Given the description of an element on the screen output the (x, y) to click on. 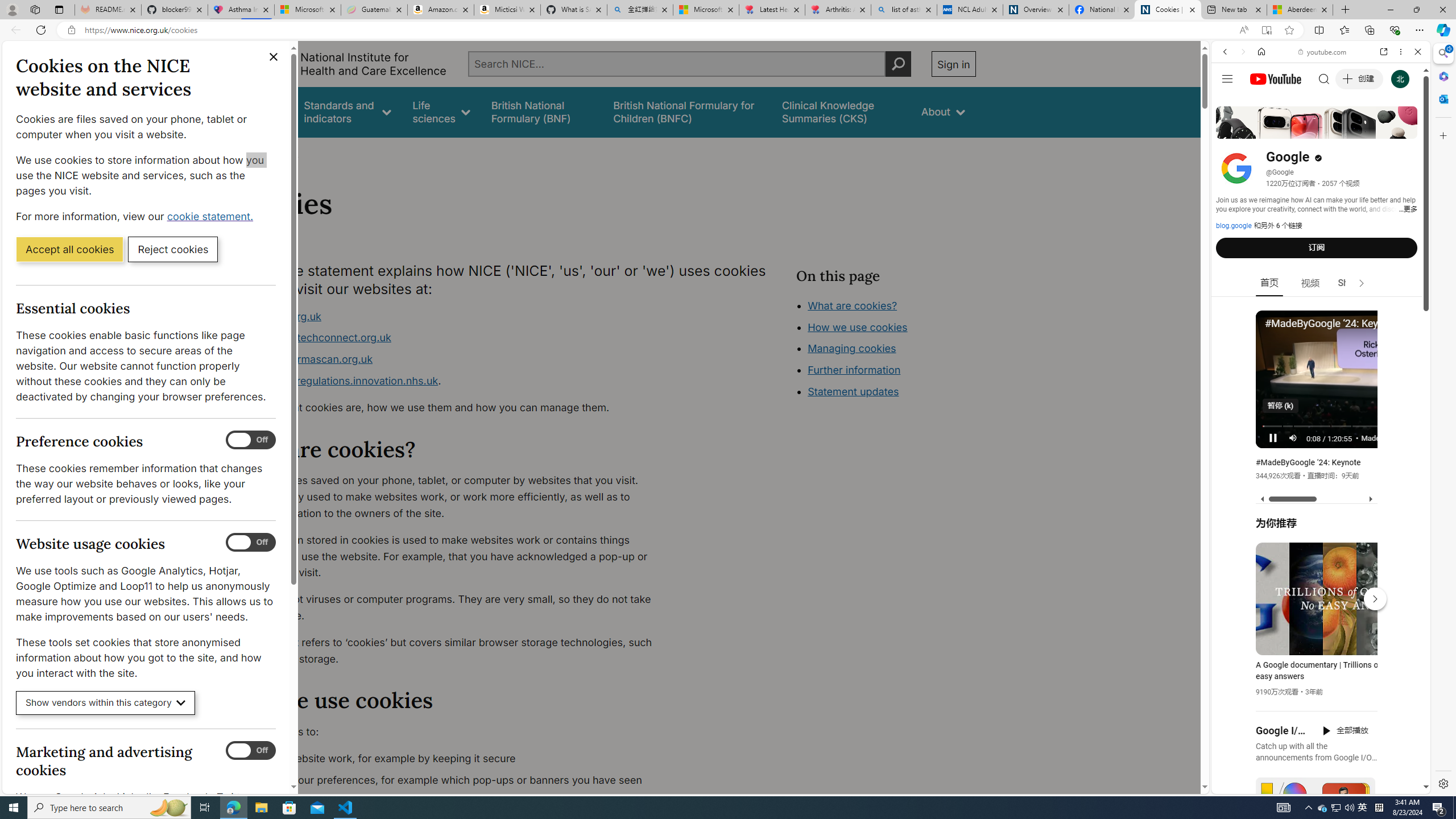
Cookies | About | NICE (1167, 9)
www.nice.org.uk (279, 315)
www.healthtechconnect.org.uk (314, 337)
